Given the description of an element on the screen output the (x, y) to click on. 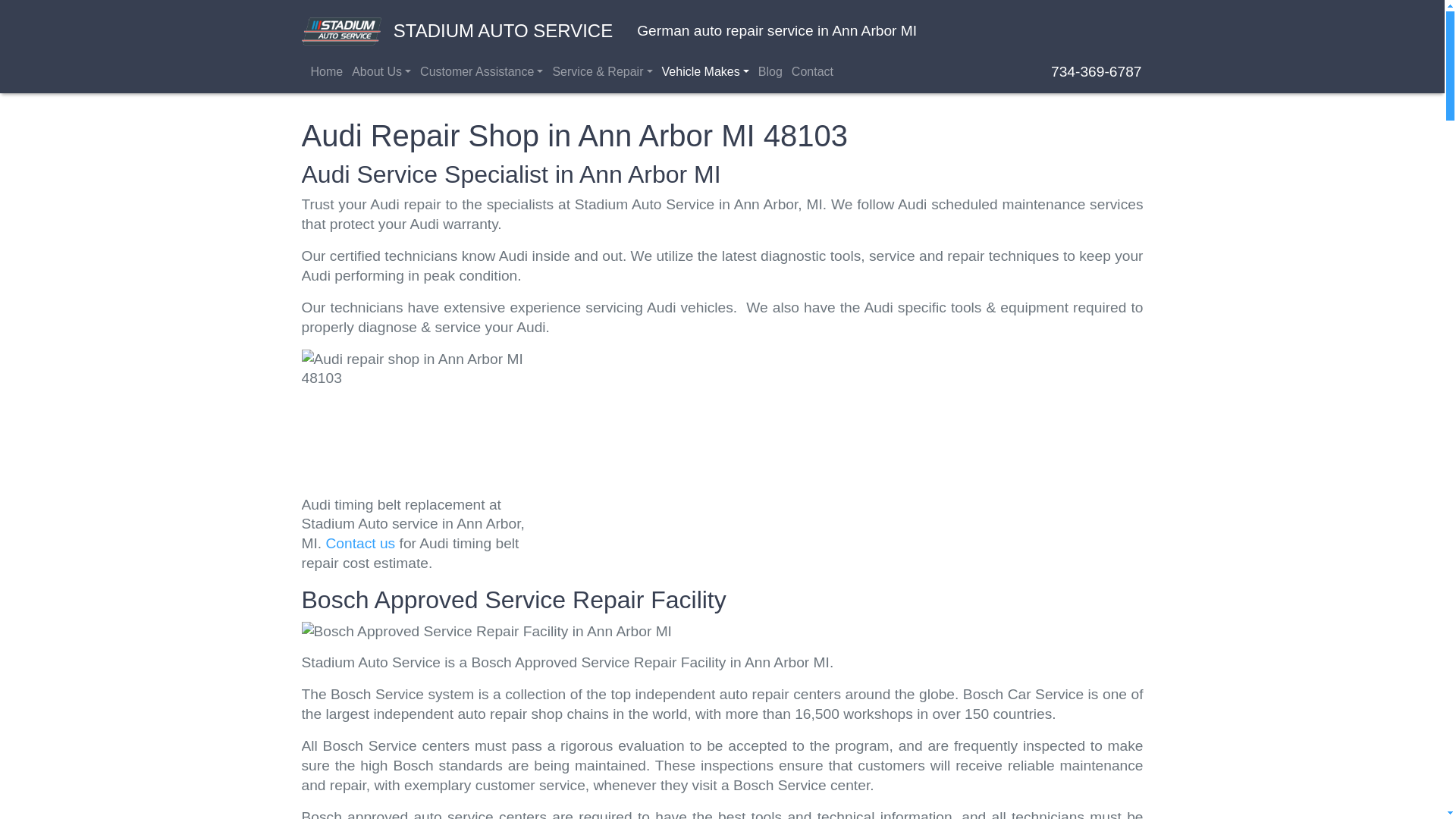
Home (328, 71)
STADIUM AUTO SERVICE (456, 31)
About  (382, 71)
Blog (772, 71)
